Given the description of an element on the screen output the (x, y) to click on. 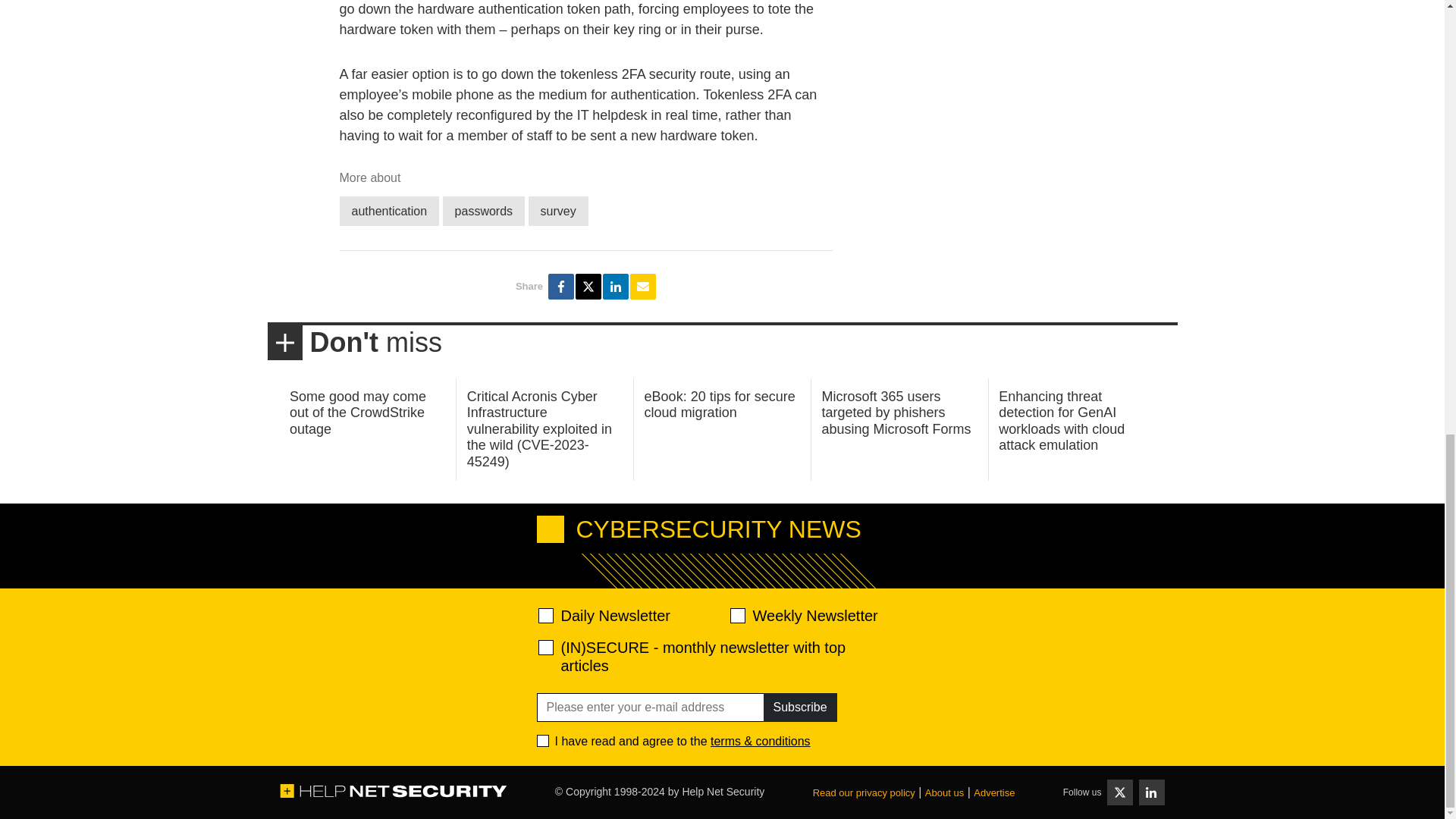
survey (558, 211)
authentication (389, 211)
survey (558, 211)
1 (542, 740)
d2d471aafa (736, 615)
520ac2f639 (545, 615)
Some good may come out of the CrowdStrike outage (357, 412)
28abe5d9ef (545, 647)
passwords (483, 211)
passwords (483, 211)
eBook: 20 tips for secure cloud migration (719, 404)
